Given the description of an element on the screen output the (x, y) to click on. 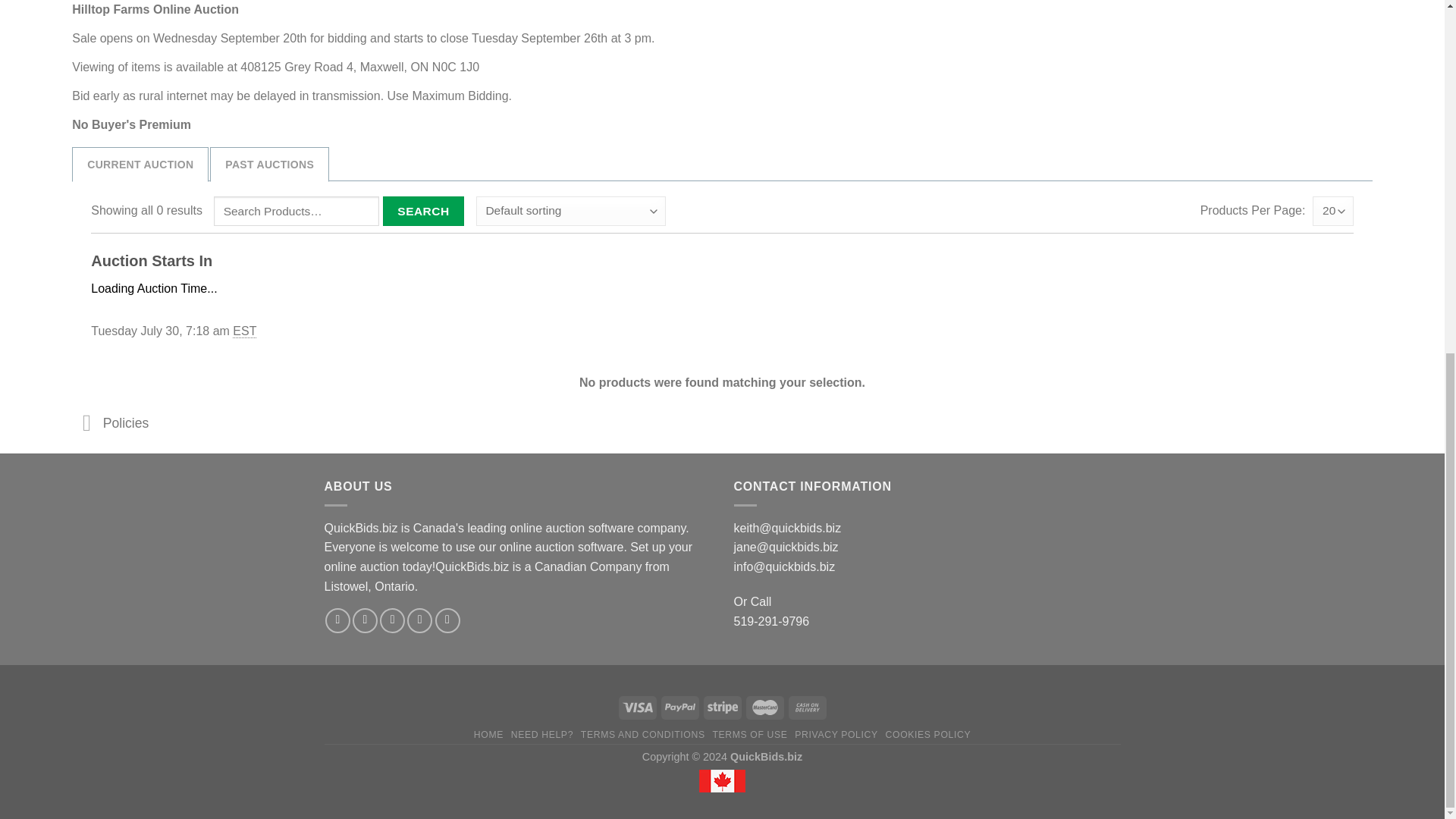
Eastern Standard Time (244, 331)
Search (423, 211)
Follow on Facebook (337, 620)
Search for: (296, 211)
